Given the description of an element on the screen output the (x, y) to click on. 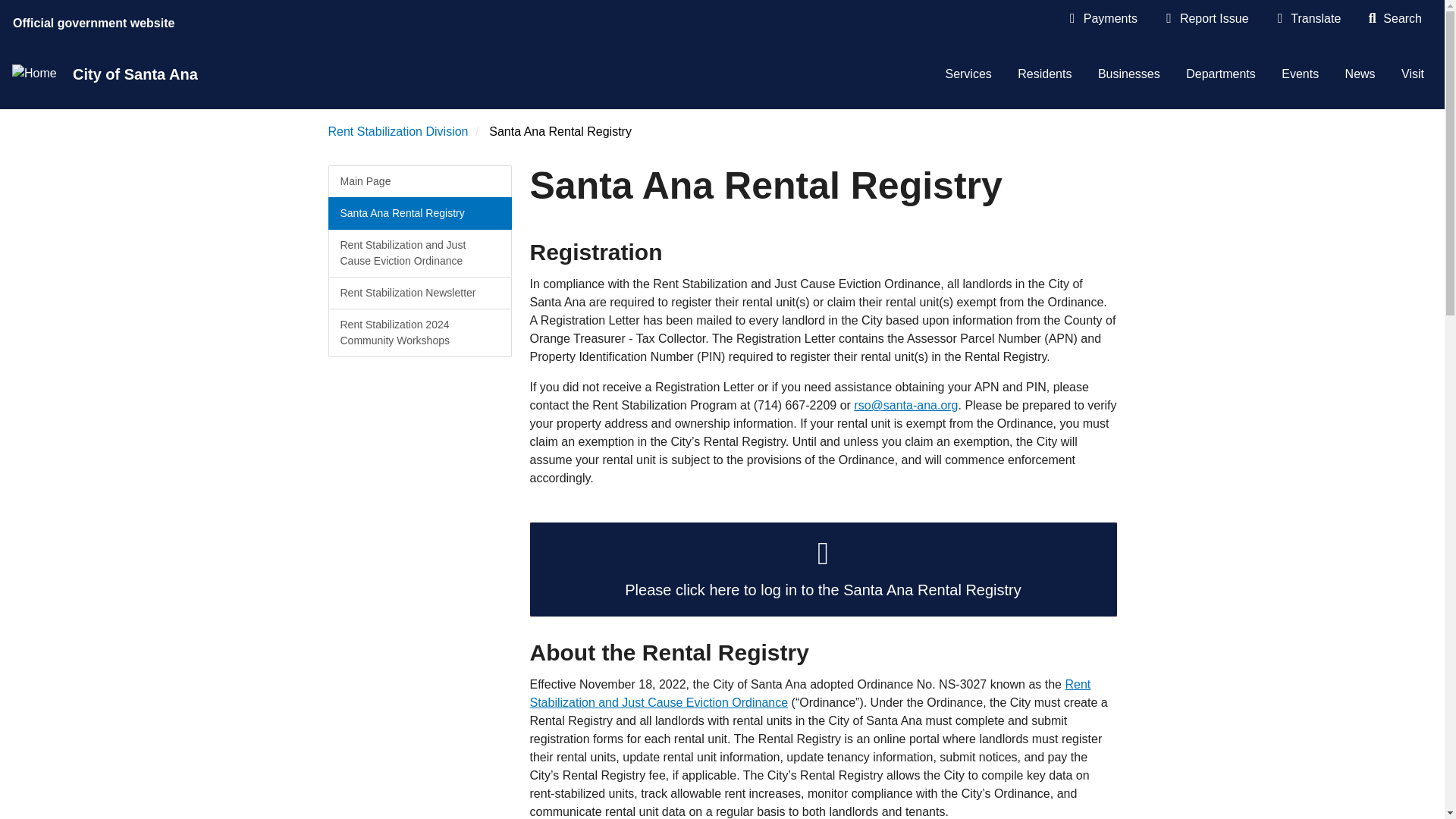
Businesses (1129, 74)
Home (33, 73)
Translate (1308, 18)
City of Santa Ana (140, 74)
Official government website (96, 19)
Santa Ana Rental Registry (419, 213)
Rent Stabilization and Just Cause Eviction Ordinance (809, 693)
Home (34, 74)
Main Page (419, 181)
Payments (1102, 18)
